Given the description of an element on the screen output the (x, y) to click on. 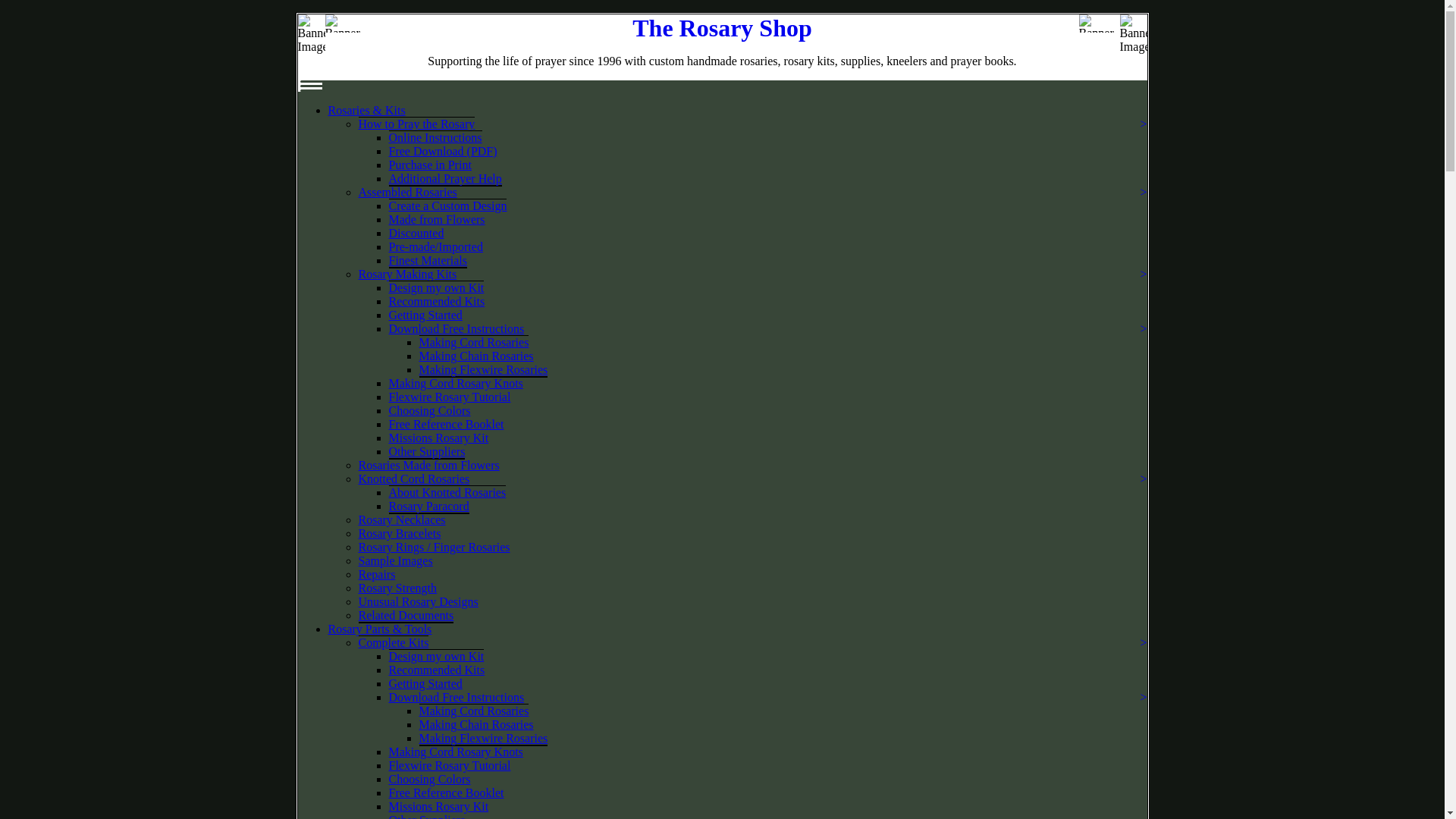
Sample Images (395, 560)
Made from Flowers (436, 219)
Online Instructions (434, 137)
Design my own Kit (435, 287)
Go to home page. (721, 27)
Finest Materials (427, 260)
Banner Image (1098, 23)
Missions Rosary Kit (437, 437)
Repairs (376, 574)
Banner Image (344, 23)
Free Reference Booklet (445, 423)
Banner Image (310, 41)
Rosary Strength (397, 587)
Purchase in Print (429, 164)
Making Chain Rosaries (475, 355)
